Given the description of an element on the screen output the (x, y) to click on. 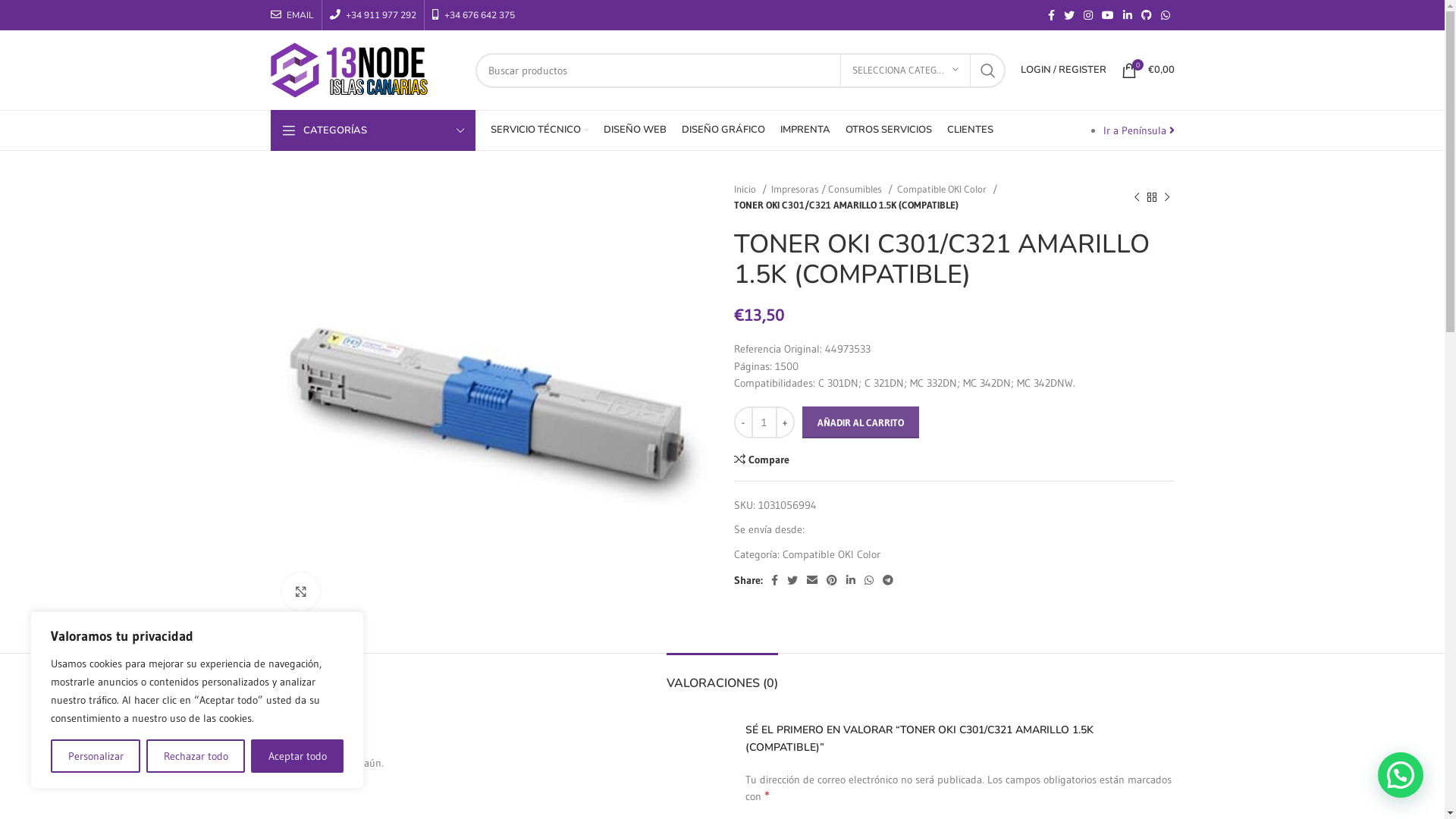
Aceptar todo Element type: text (297, 755)
Compatible OKI Color Element type: text (946, 189)
IMPRENTA Element type: text (804, 130)
EMAIL Element type: text (291, 15)
Compatible OKI Color Element type: text (831, 554)
Compare Element type: text (762, 458)
Personalizar Element type: text (95, 755)
LOGIN / REGISTER Element type: text (1063, 69)
toner-oki-c301-c321-amarillo-1-5k-compatible.jpg Element type: hover (490, 399)
Buscar productos Element type: hover (739, 70)
VALORACIONES (0) Element type: text (722, 675)
Rechazar todo Element type: text (195, 755)
SEARCH Element type: text (987, 70)
CLIENTES Element type: text (969, 130)
Inicio Element type: text (750, 189)
OTROS SERVICIOS Element type: text (887, 130)
Impresoras / Consumibles Element type: text (830, 189)
+34 676 642 375 Element type: text (473, 15)
Qty Element type: hover (763, 422)
+34 911 977 292 Element type: text (372, 15)
